Given the description of an element on the screen output the (x, y) to click on. 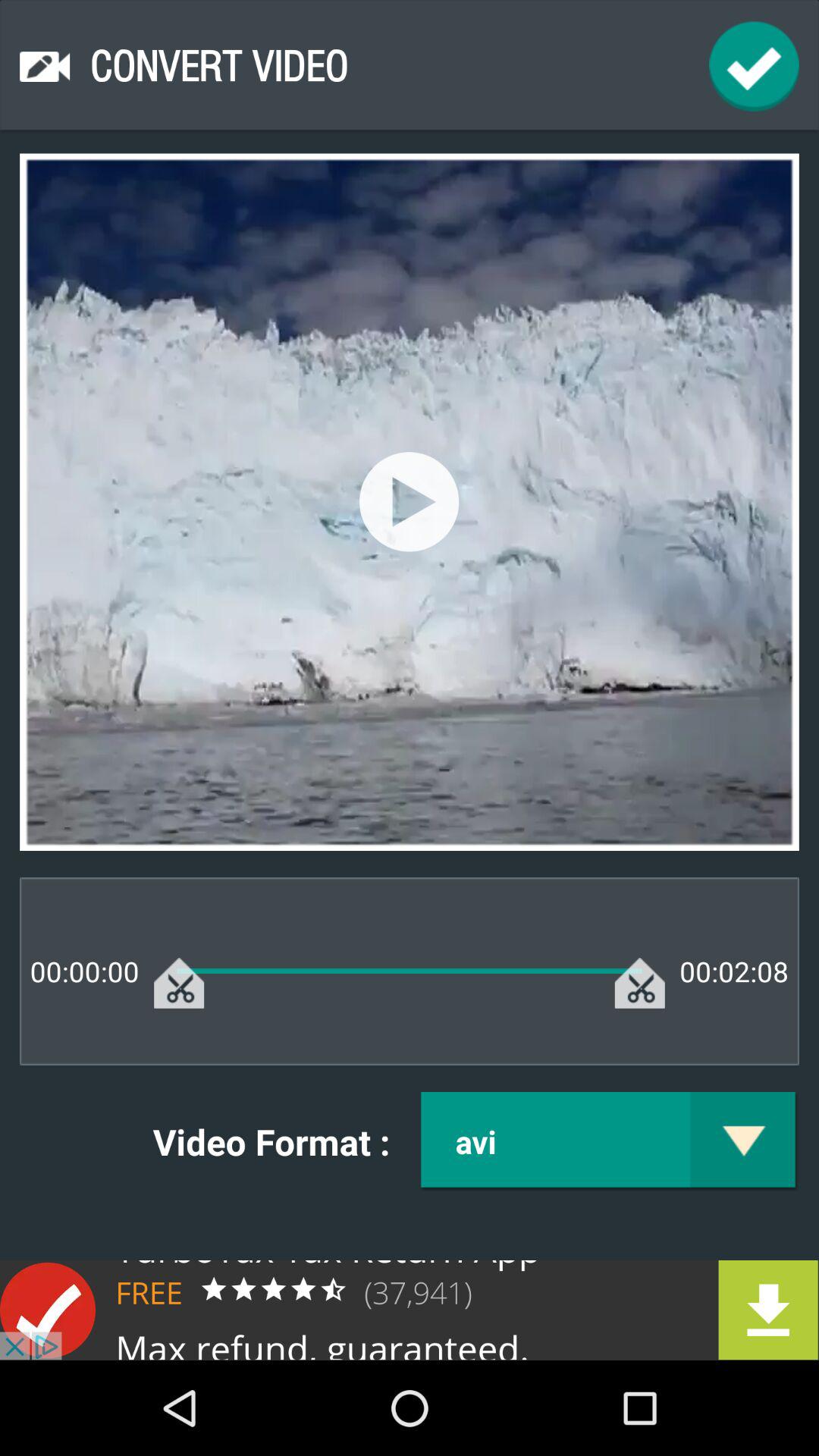
go to advertising advertisement (409, 1309)
